Given the description of an element on the screen output the (x, y) to click on. 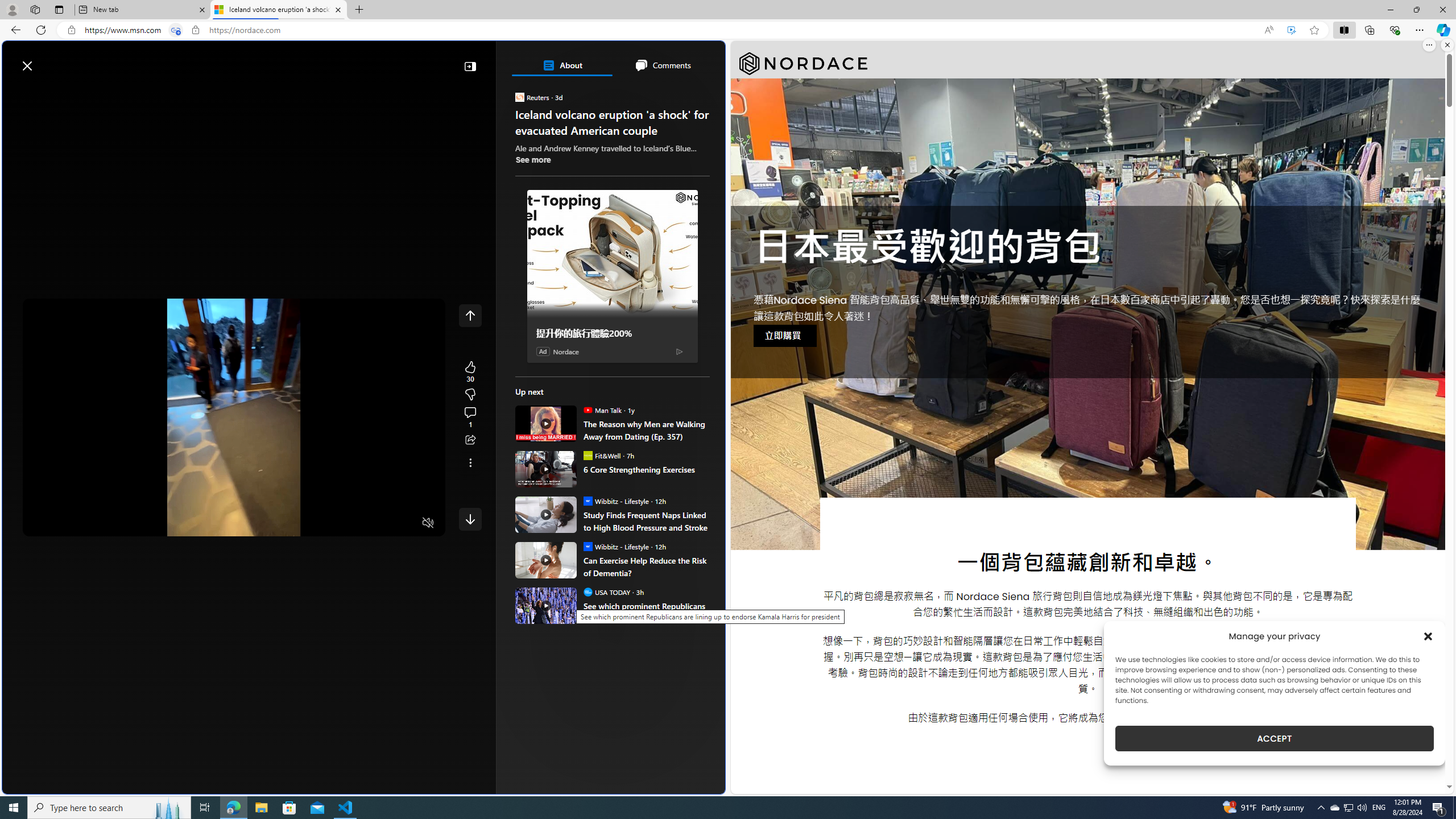
More like this30Fewer like thisView comments (469, 394)
More options. (1428, 45)
6 Core Strengthening Exercises (646, 468)
USA TODAY USA TODAY (606, 591)
Skip to content (49, 59)
Fullscreen (405, 523)
The Seeing Eye (579, 249)
Collapse (469, 65)
Share this story (469, 440)
